Given the description of an element on the screen output the (x, y) to click on. 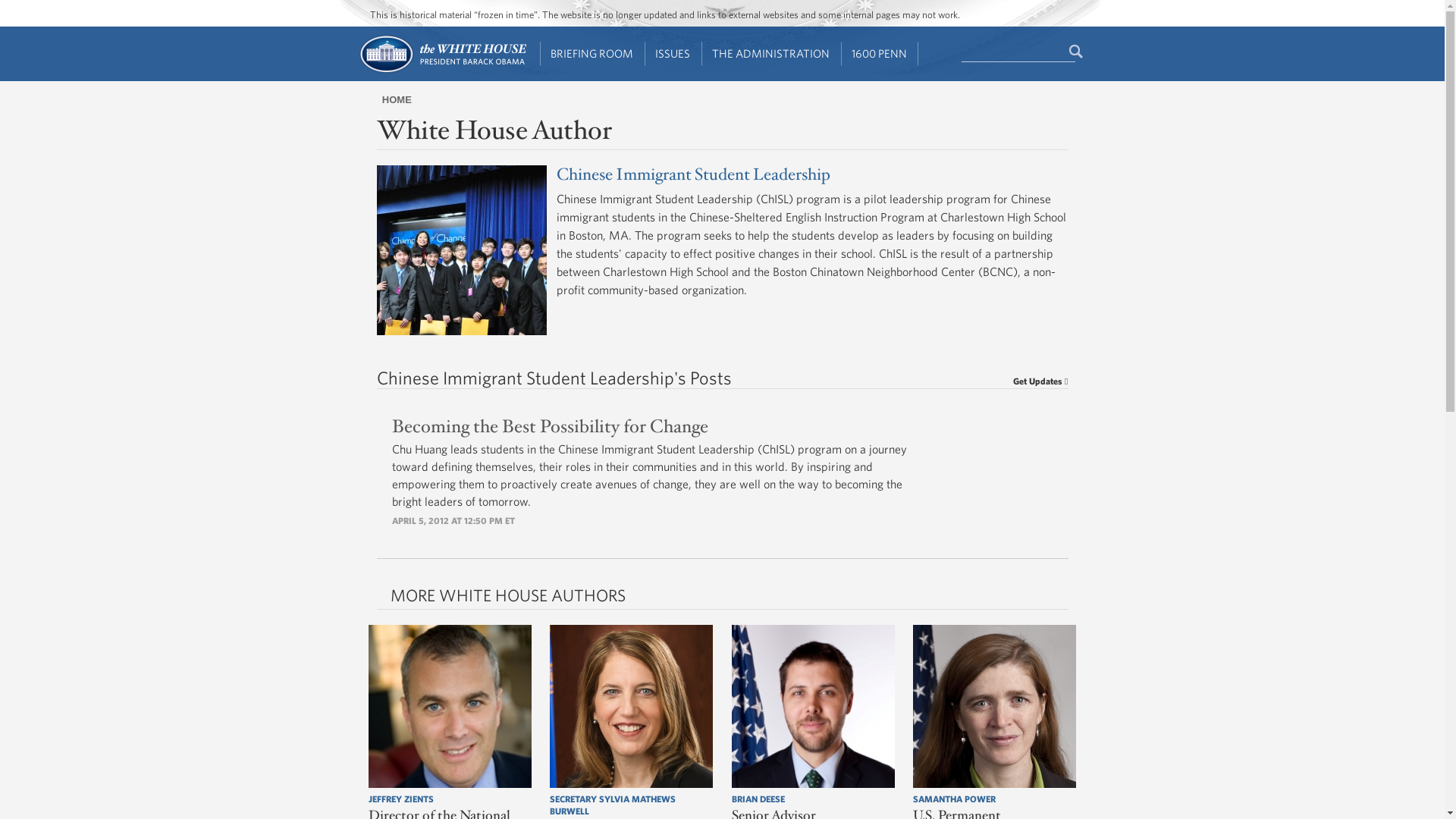
BRIEFING ROOM (592, 53)
ISSUES (673, 53)
Search (1076, 51)
Enter the terms you wish to search for. (1017, 52)
Home (441, 70)
